Given the description of an element on the screen output the (x, y) to click on. 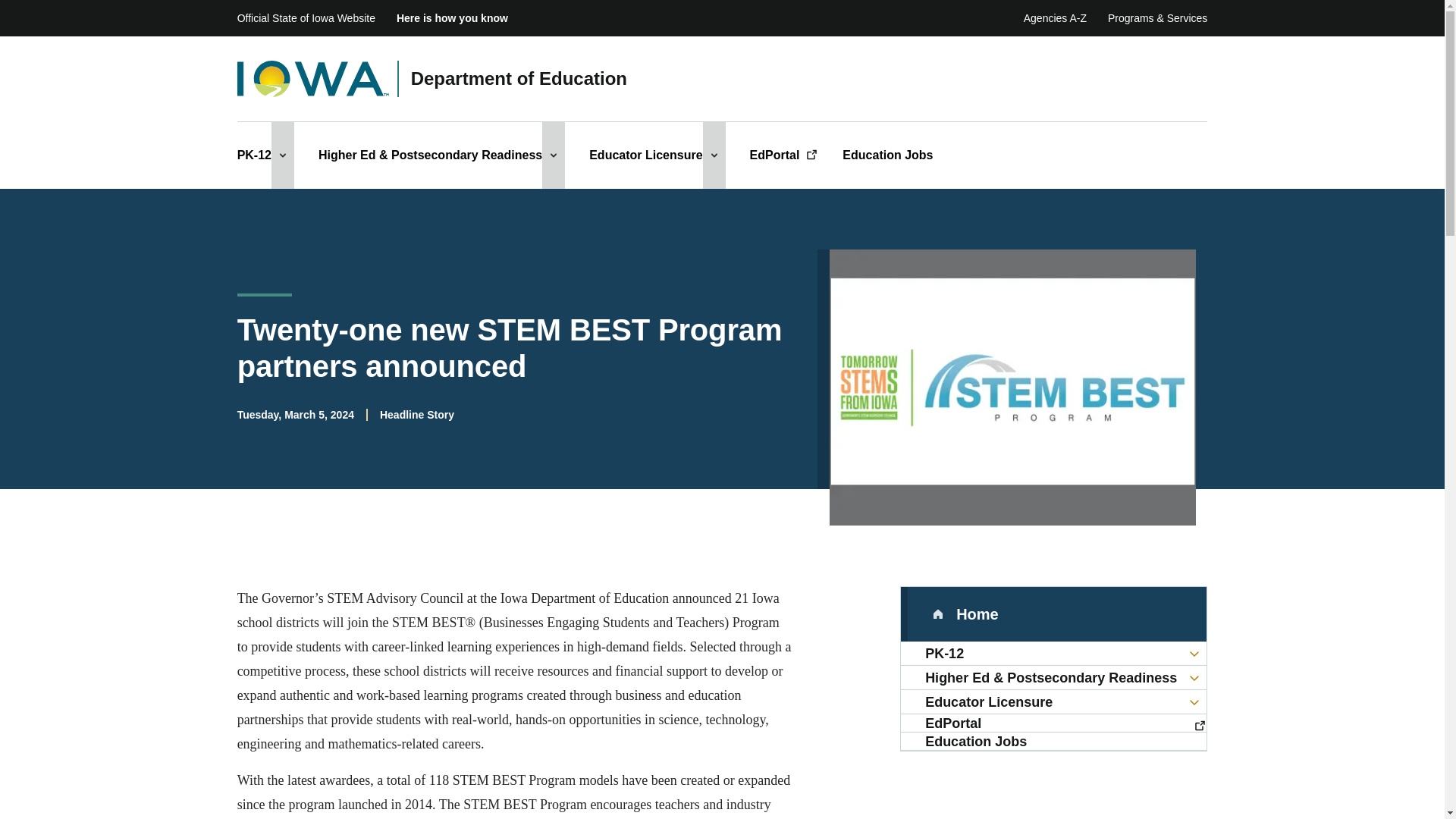
Link to Iowa Education Jobs (888, 155)
Iowa Education Portal (783, 155)
Link to Iowa Education Jobs (1054, 741)
Agencies A-Z (1054, 18)
Iowa Education Portal (1054, 723)
Department of Education (518, 78)
Here is how you know (452, 18)
